Given the description of an element on the screen output the (x, y) to click on. 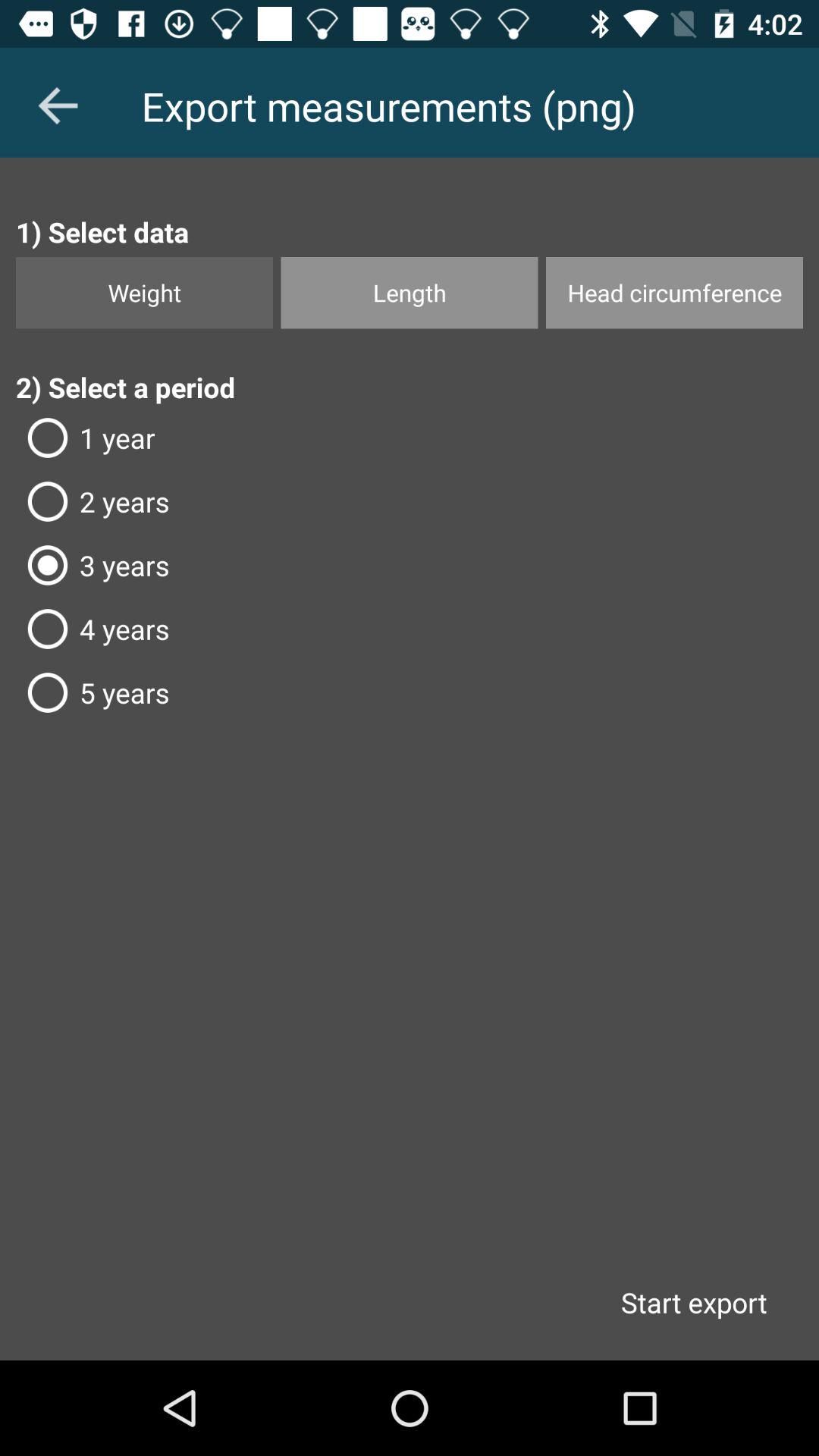
swipe to head circumference icon (674, 292)
